Given the description of an element on the screen output the (x, y) to click on. 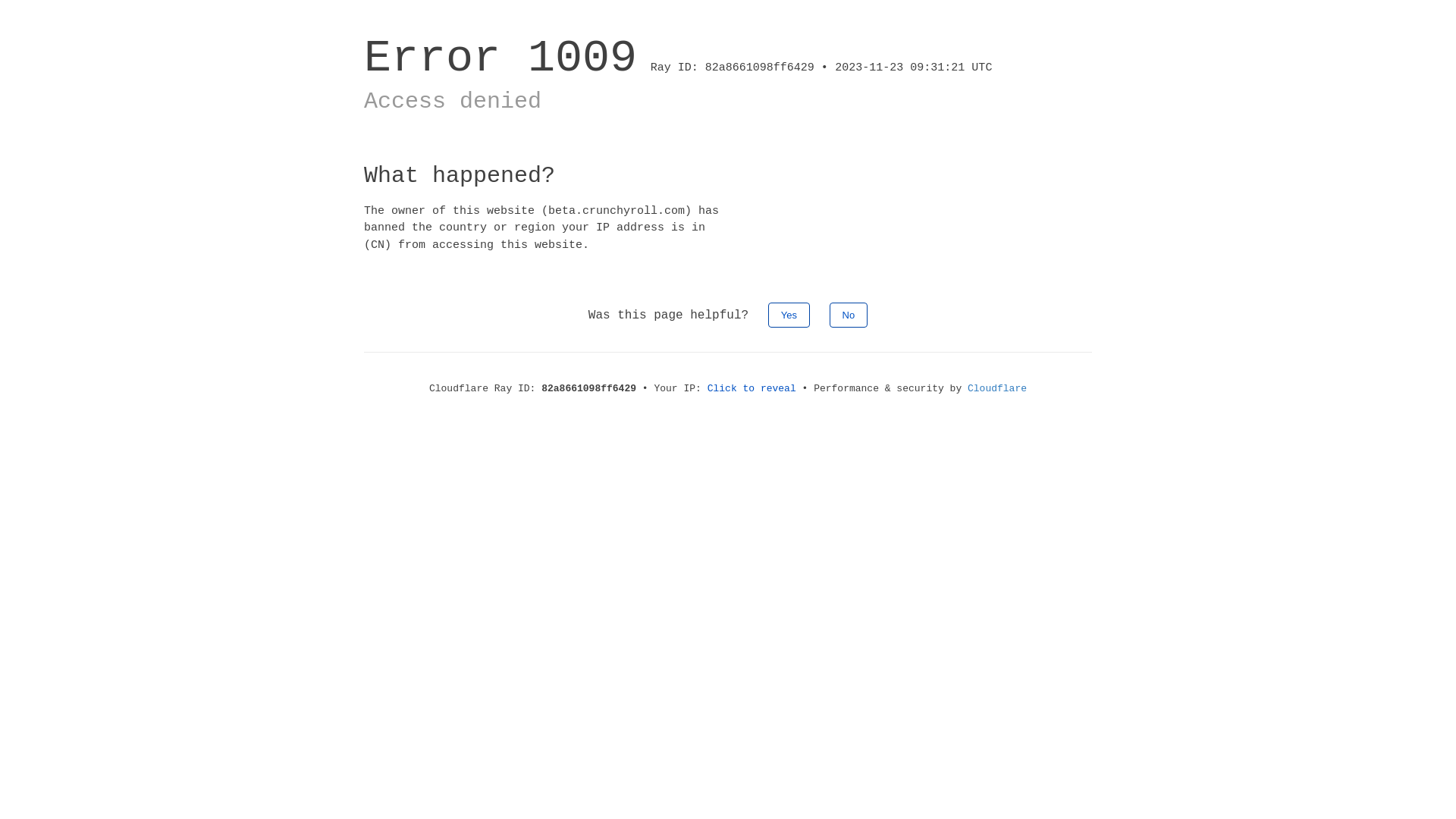
No Element type: text (848, 314)
Yes Element type: text (788, 314)
Cloudflare Element type: text (996, 388)
Click to reveal Element type: text (751, 388)
